Given the description of an element on the screen output the (x, y) to click on. 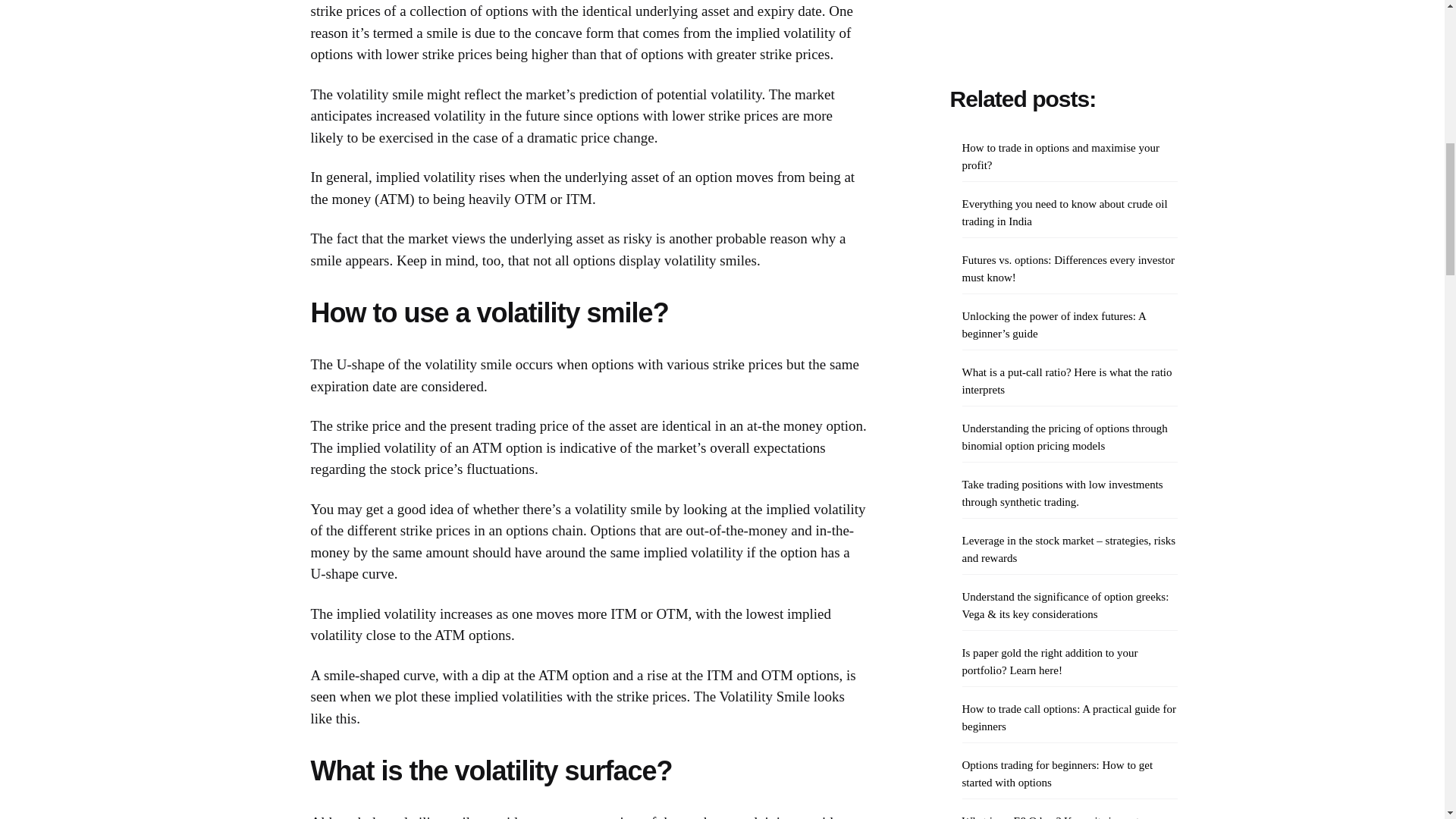
What is expiry day trading? (1023, 290)
